Given the description of an element on the screen output the (x, y) to click on. 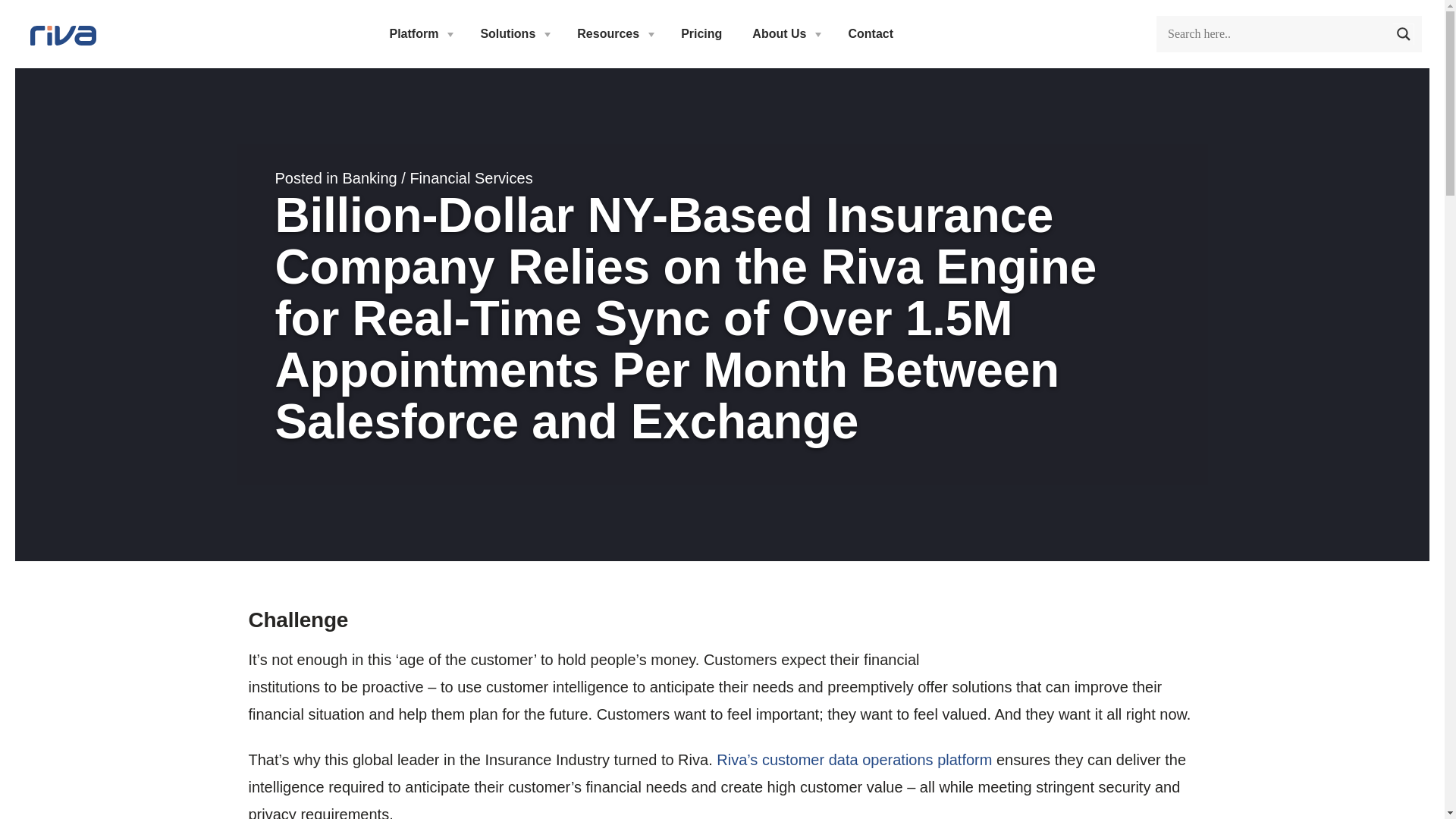
Resources (613, 34)
Solutions (513, 34)
Pricing (700, 34)
About Us (784, 34)
Platform (419, 34)
Contact (870, 34)
